Given the description of an element on the screen output the (x, y) to click on. 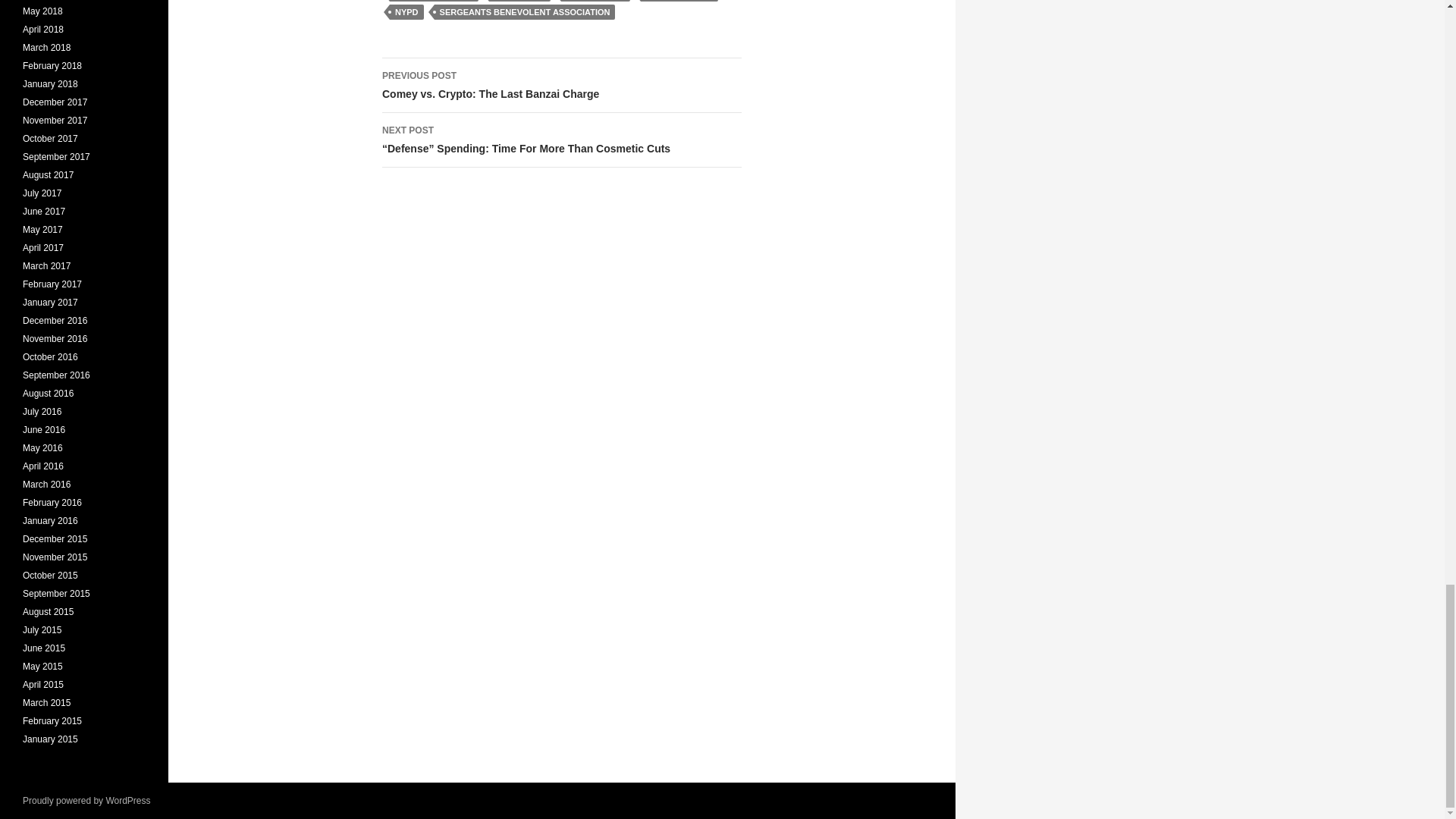
SERGEANTS BENEVOLENT ASSOCIATION (524, 11)
ED MULLINS (519, 0)
ERIC GARNER (595, 0)
DANIEL PANTALEO (434, 0)
NYPD (406, 11)
NEW YORK CITY (561, 85)
